Given the description of an element on the screen output the (x, y) to click on. 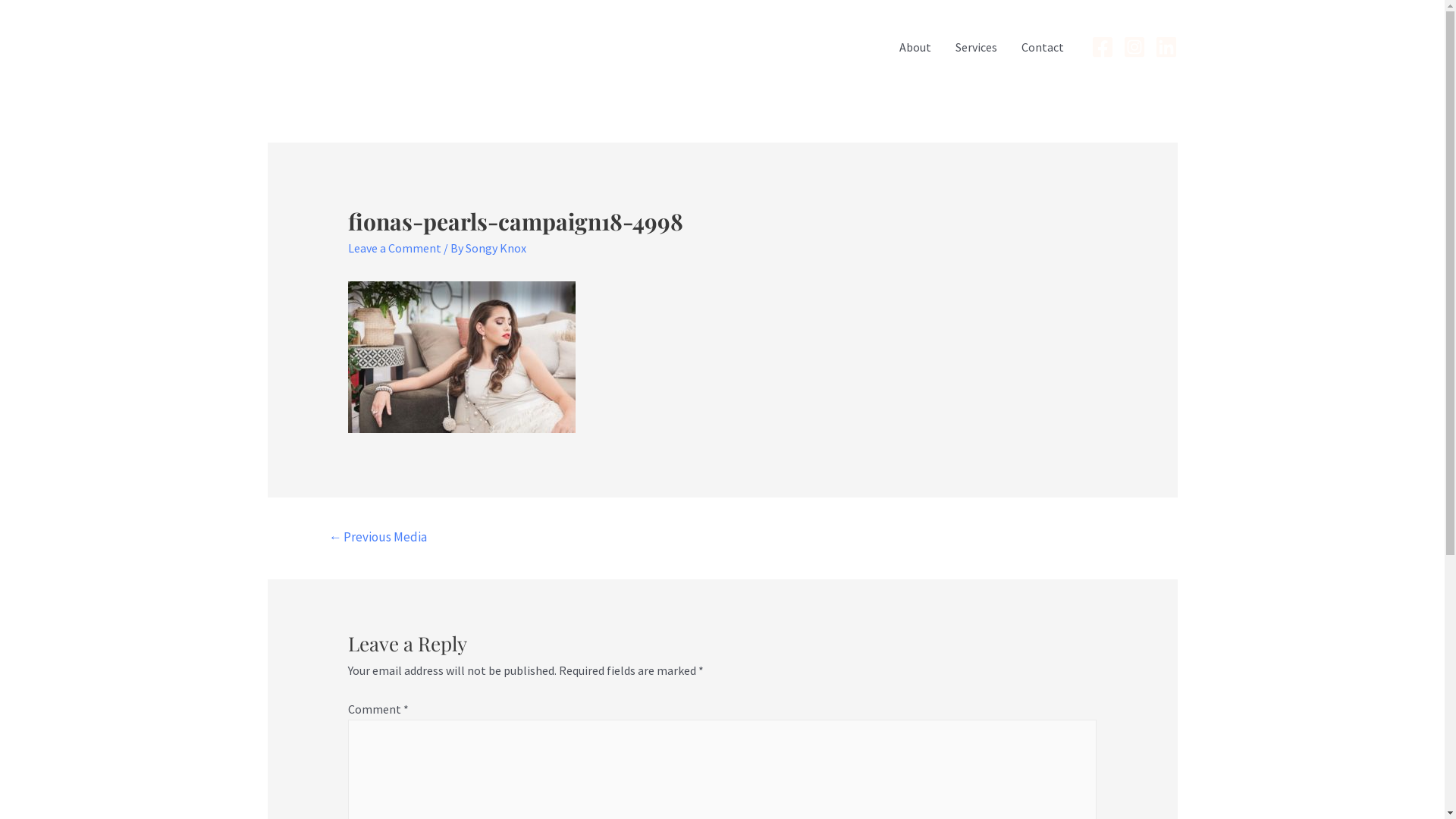
Services Element type: text (976, 46)
Leave a Comment Element type: text (394, 246)
Contact Element type: text (1041, 46)
About Element type: text (915, 46)
Songy Knox Element type: text (495, 246)
